Given the description of an element on the screen output the (x, y) to click on. 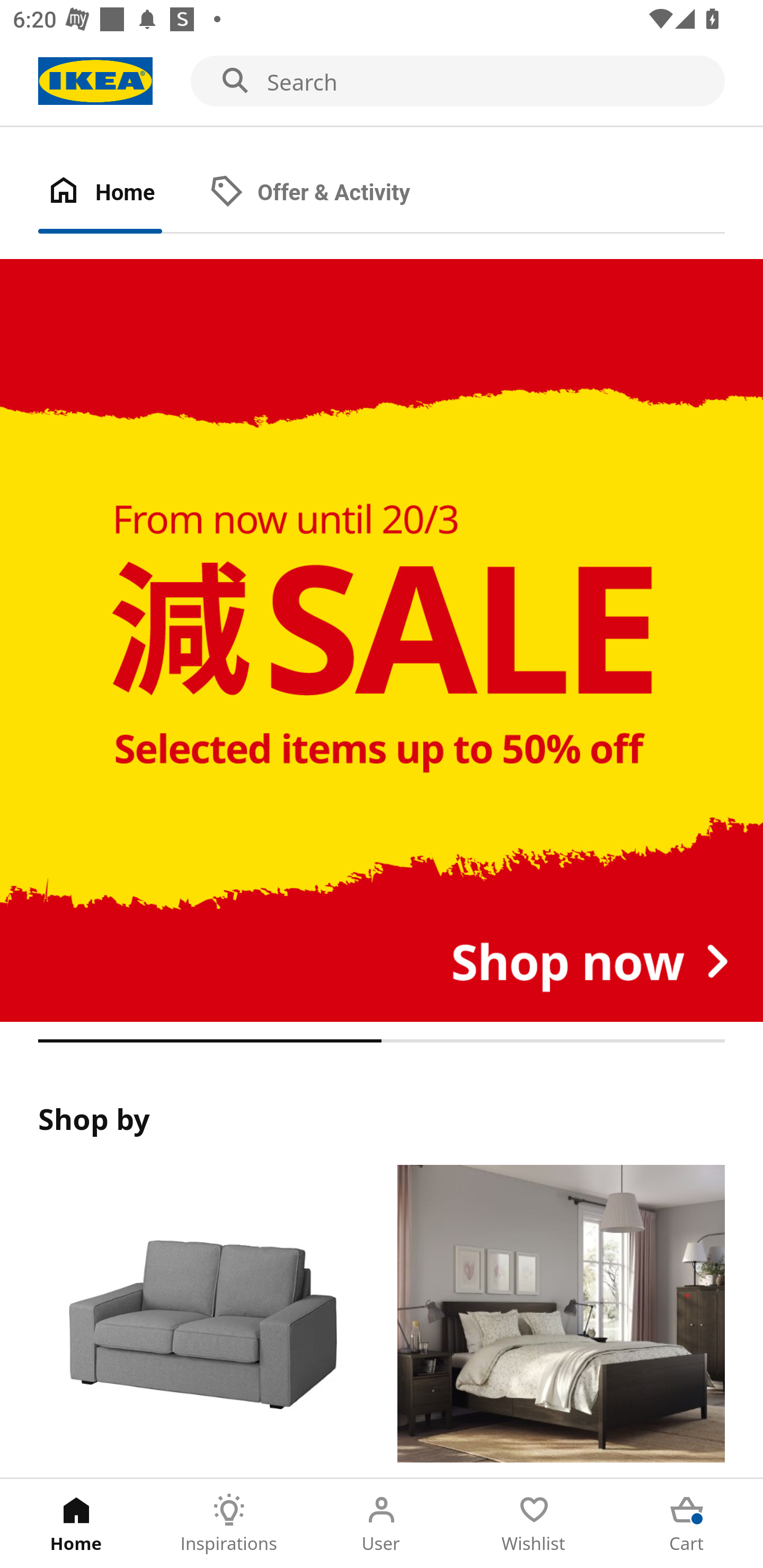
Search (381, 81)
Home
Tab 1 of 2 (118, 192)
Offer & Activity
Tab 2 of 2 (327, 192)
Products (201, 1321)
Rooms (560, 1321)
Home
Tab 1 of 5 (76, 1522)
Inspirations
Tab 2 of 5 (228, 1522)
User
Tab 3 of 5 (381, 1522)
Wishlist
Tab 4 of 5 (533, 1522)
Cart
Tab 5 of 5 (686, 1522)
